Given the description of an element on the screen output the (x, y) to click on. 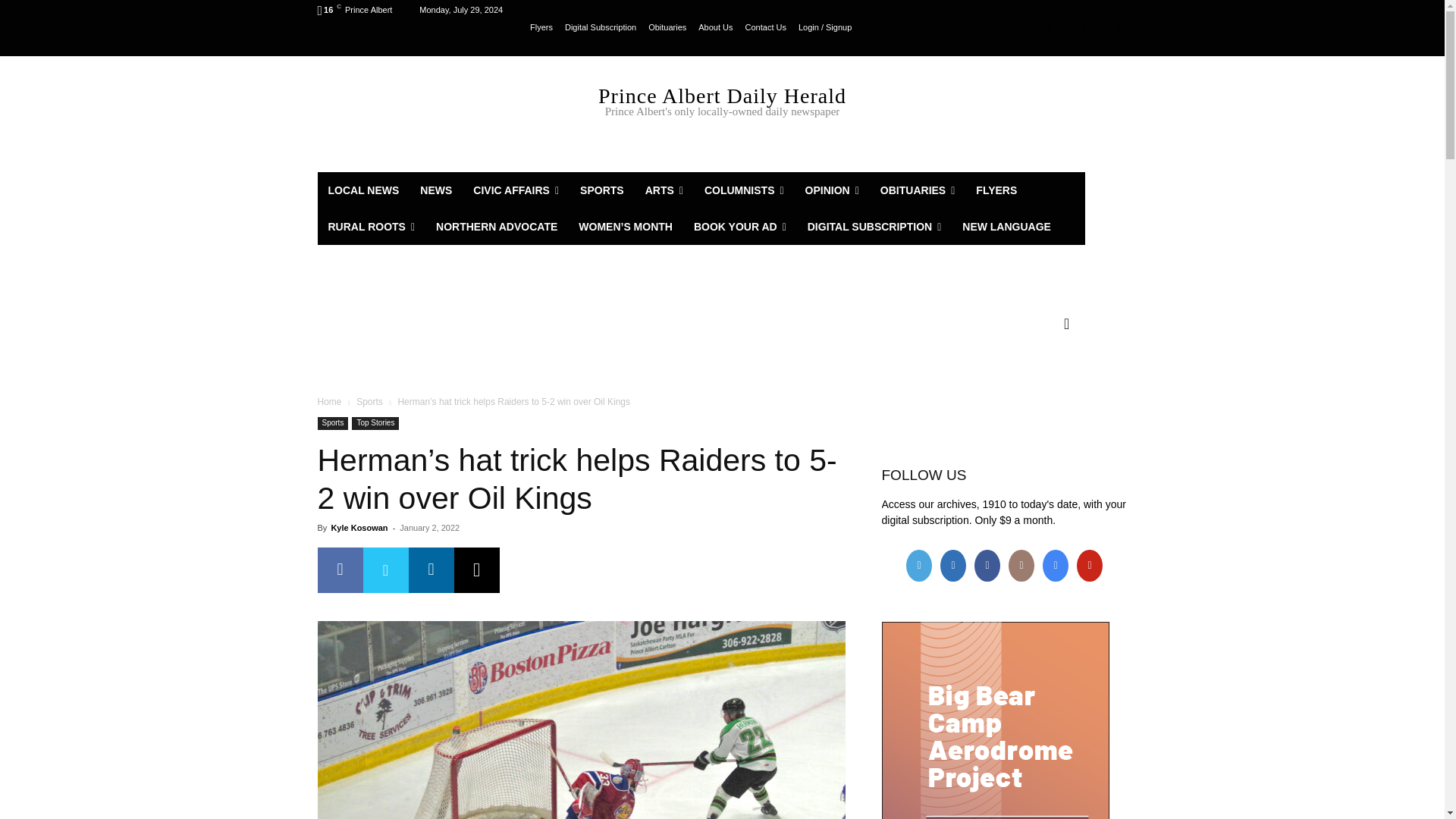
View all posts in Sports (369, 401)
Youtube (1117, 27)
Twitter (384, 569)
Facebook (339, 569)
Instagram (1066, 27)
Vimeo (1101, 27)
Facebook (1049, 27)
Twitter (1084, 27)
